Given the description of an element on the screen output the (x, y) to click on. 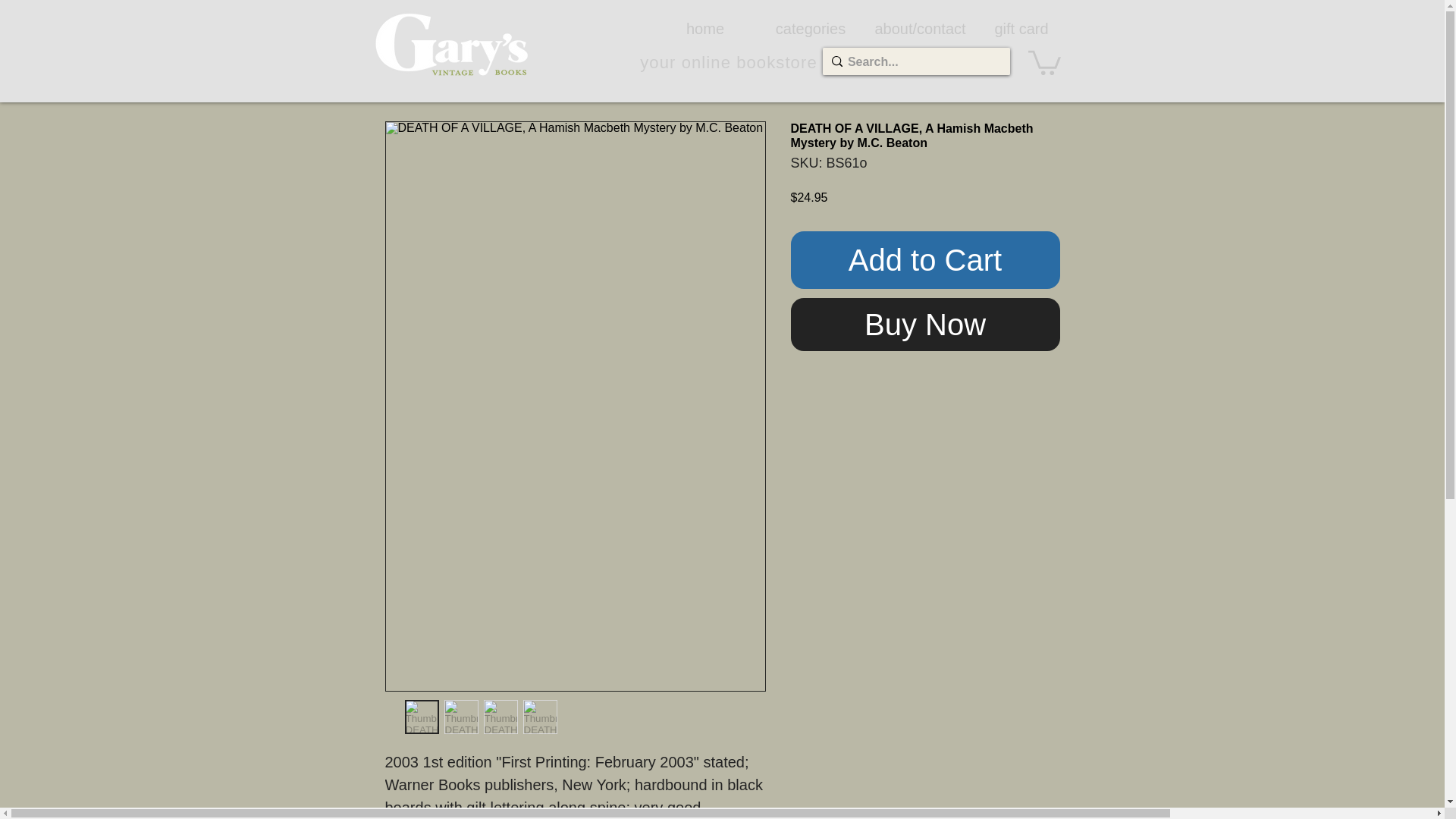
your online bookstore (728, 62)
Add to Cart (924, 259)
gift card (1021, 28)
categories (810, 28)
Buy Now (924, 324)
home (704, 28)
